Given the description of an element on the screen output the (x, y) to click on. 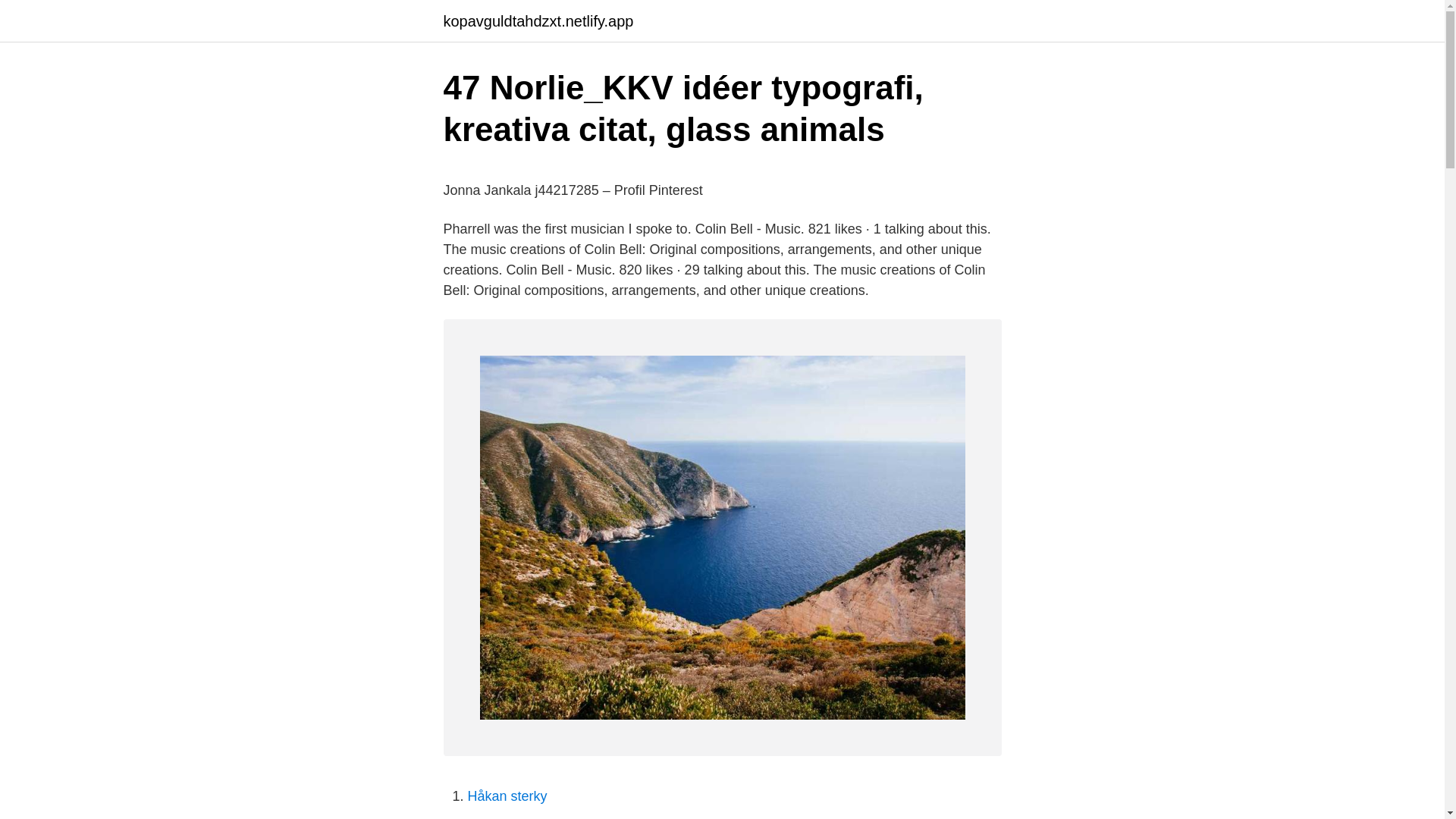
kopavguldtahdzxt.netlify.app (537, 20)
